Given the description of an element on the screen output the (x, y) to click on. 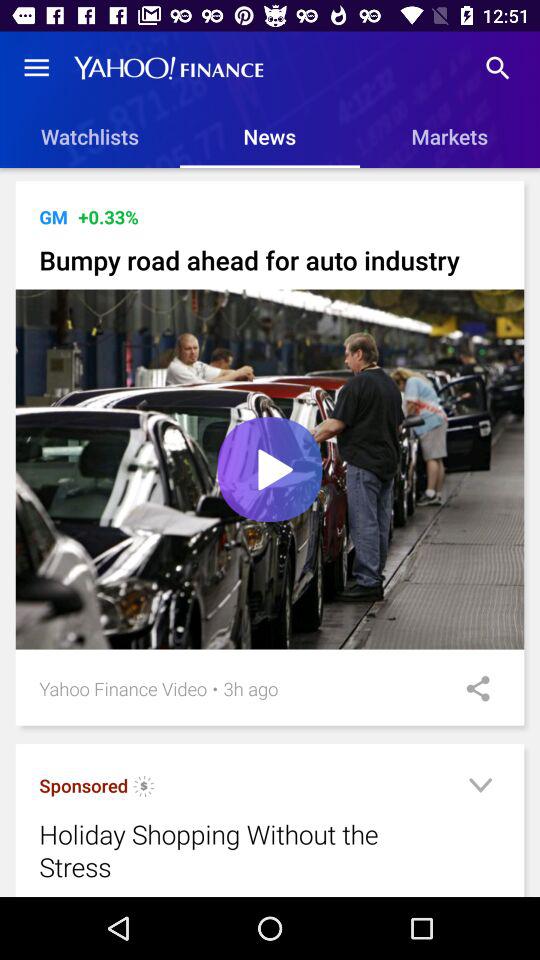
choose icon above holiday shopping without icon (83, 785)
